Given the description of an element on the screen output the (x, y) to click on. 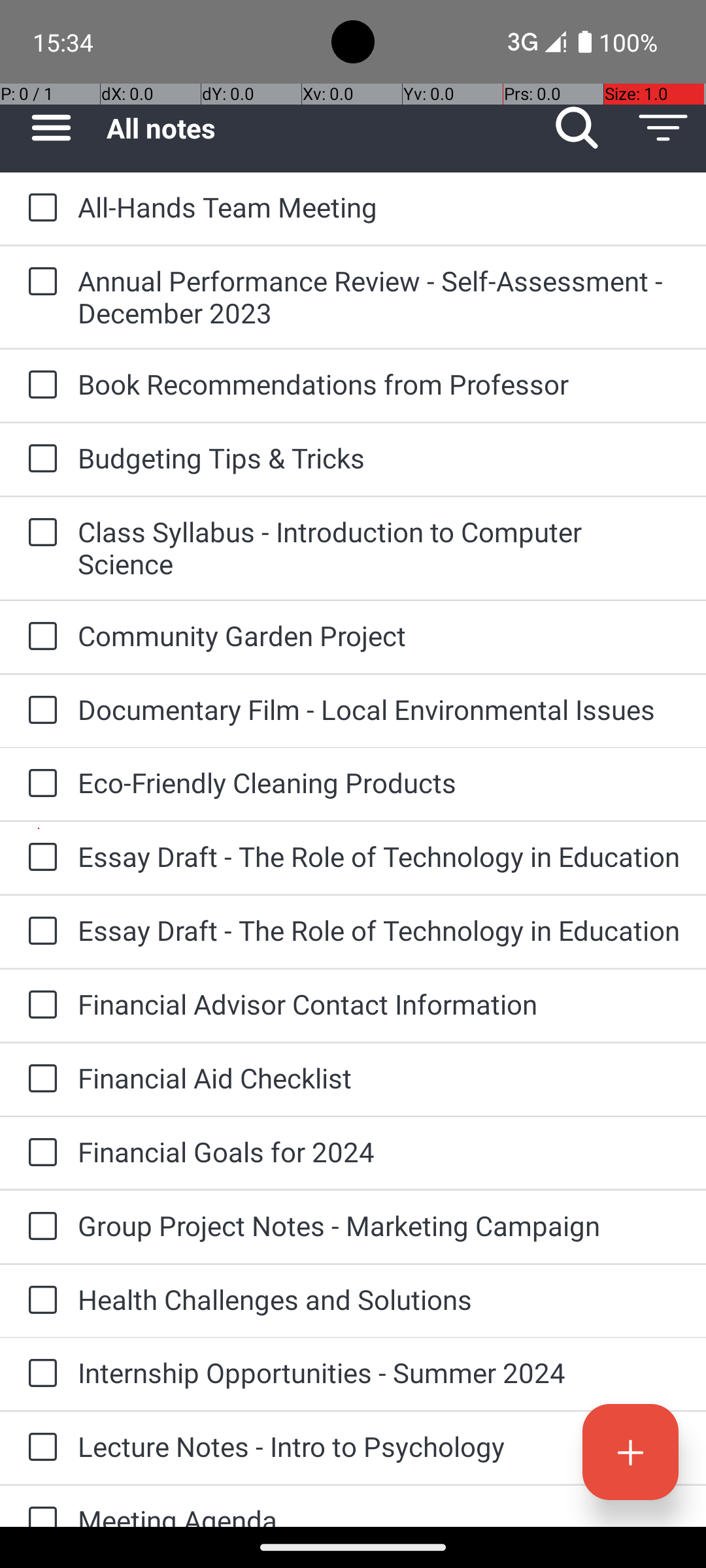
Sidebar Element type: android.widget.Button (44, 127)
All notes Element type: android.widget.TextView (320, 127)
Sort notes by Element type: android.widget.Button (663, 127)
Add new, collapsed Element type: android.widget.Button (630, 1452)
 Element type: android.widget.TextView (51, 127)
 Element type: android.widget.TextView (576, 127)
 Element type: android.widget.TextView (663, 127)
 Element type: android.widget.TextView (630, 1451)
to-do: All-Hands Team Meeting Element type: android.widget.CheckBox (38, 208)
All-Hands Team Meeting Element type: android.widget.TextView (378, 206)
to-do: Annual Performance Review - Self-Assessment - December 2023 Element type: android.widget.CheckBox (38, 282)
Annual Performance Review - Self-Assessment - December 2023 Element type: android.widget.TextView (378, 296)
to-do: Book Recommendations from Professor Element type: android.widget.CheckBox (38, 385)
Book Recommendations from Professor Element type: android.widget.TextView (378, 383)
to-do: Budgeting Tips & Tricks Element type: android.widget.CheckBox (38, 459)
Budgeting Tips & Tricks Element type: android.widget.TextView (378, 457)
to-do: Class Syllabus - Introduction to Computer Science Element type: android.widget.CheckBox (38, 533)
Class Syllabus - Introduction to Computer Science Element type: android.widget.TextView (378, 547)
to-do: Community Garden Project Element type: android.widget.CheckBox (38, 636)
Community Garden Project Element type: android.widget.TextView (378, 634)
to-do: Documentary Film - Local Environmental Issues Element type: android.widget.CheckBox (38, 710)
Documentary Film - Local Environmental Issues Element type: android.widget.TextView (378, 708)
to-do: Eco-Friendly Cleaning Products Element type: android.widget.CheckBox (38, 783)
Eco-Friendly Cleaning Products Element type: android.widget.TextView (378, 781)
to-do: Essay Draft - The Role of Technology in Education Element type: android.widget.CheckBox (38, 857)
Essay Draft - The Role of Technology in Education Element type: android.widget.TextView (378, 855)
to-do: Financial Advisor Contact Information Element type: android.widget.CheckBox (38, 1005)
Financial Advisor Contact Information Element type: android.widget.TextView (378, 1003)
to-do: Financial Aid Checklist Element type: android.widget.CheckBox (38, 1079)
Financial Aid Checklist Element type: android.widget.TextView (378, 1077)
to-do: Financial Goals for 2024 Element type: android.widget.CheckBox (38, 1153)
Financial Goals for 2024 Element type: android.widget.TextView (378, 1151)
to-do: Group Project Notes - Marketing Campaign Element type: android.widget.CheckBox (38, 1227)
Group Project Notes - Marketing Campaign Element type: android.widget.TextView (378, 1224)
to-do: Health Challenges and Solutions Element type: android.widget.CheckBox (38, 1300)
Health Challenges and Solutions Element type: android.widget.TextView (378, 1298)
to-do: Internship Opportunities - Summer 2024 Element type: android.widget.CheckBox (38, 1373)
Internship Opportunities - Summer 2024 Element type: android.widget.TextView (378, 1371)
to-do: Lecture Notes - Intro to Psychology Element type: android.widget.CheckBox (38, 1447)
Lecture Notes - Intro to Psychology Element type: android.widget.TextView (378, 1445)
to-do: Meeting Agenda Element type: android.widget.CheckBox (38, 1505)
Meeting Agenda Element type: android.widget.TextView (378, 1513)
 Element type: android.widget.TextView (42, 208)
